Given the description of an element on the screen output the (x, y) to click on. 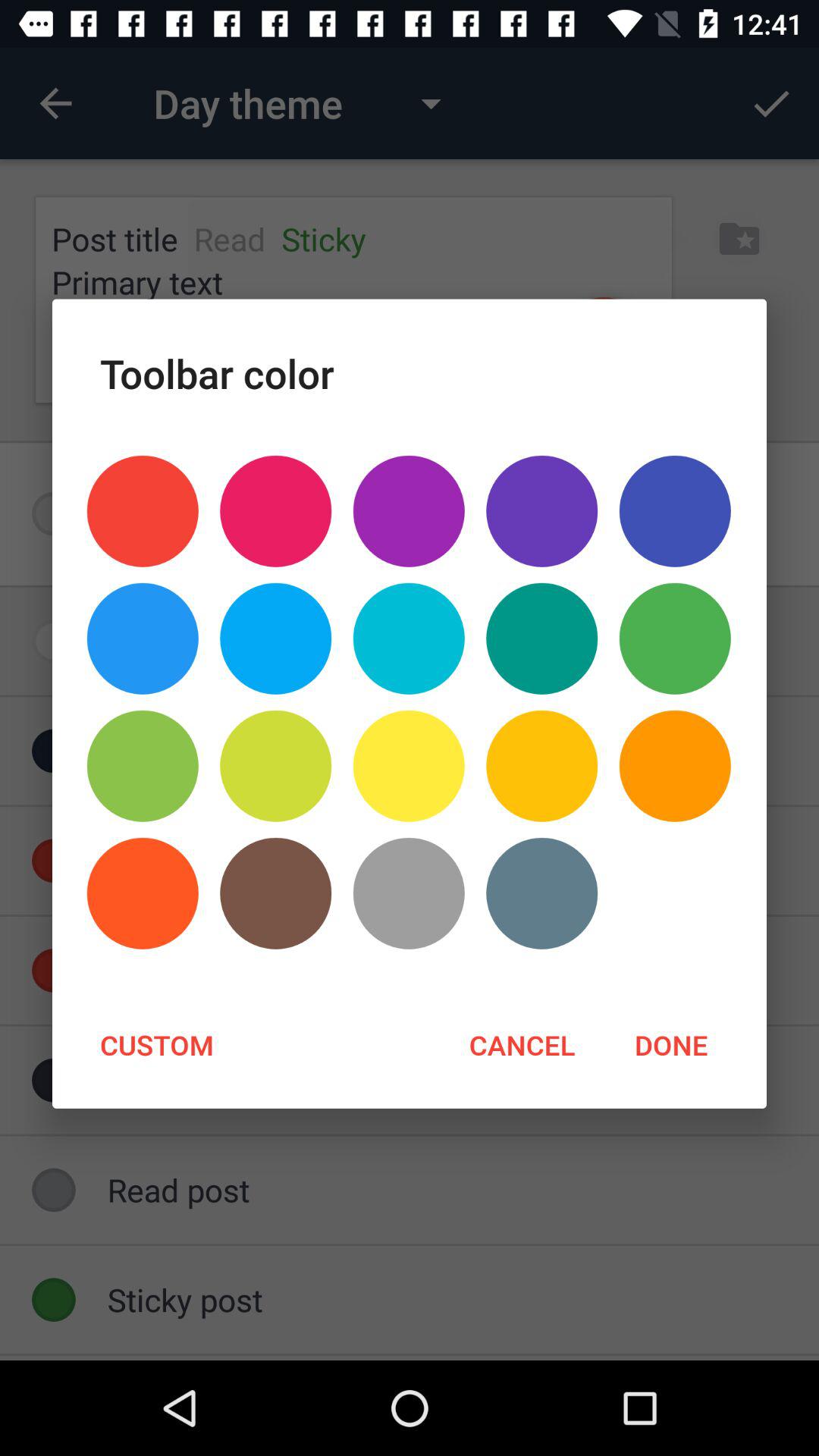
turn on the icon below the toolbar color item (541, 511)
